Given the description of an element on the screen output the (x, y) to click on. 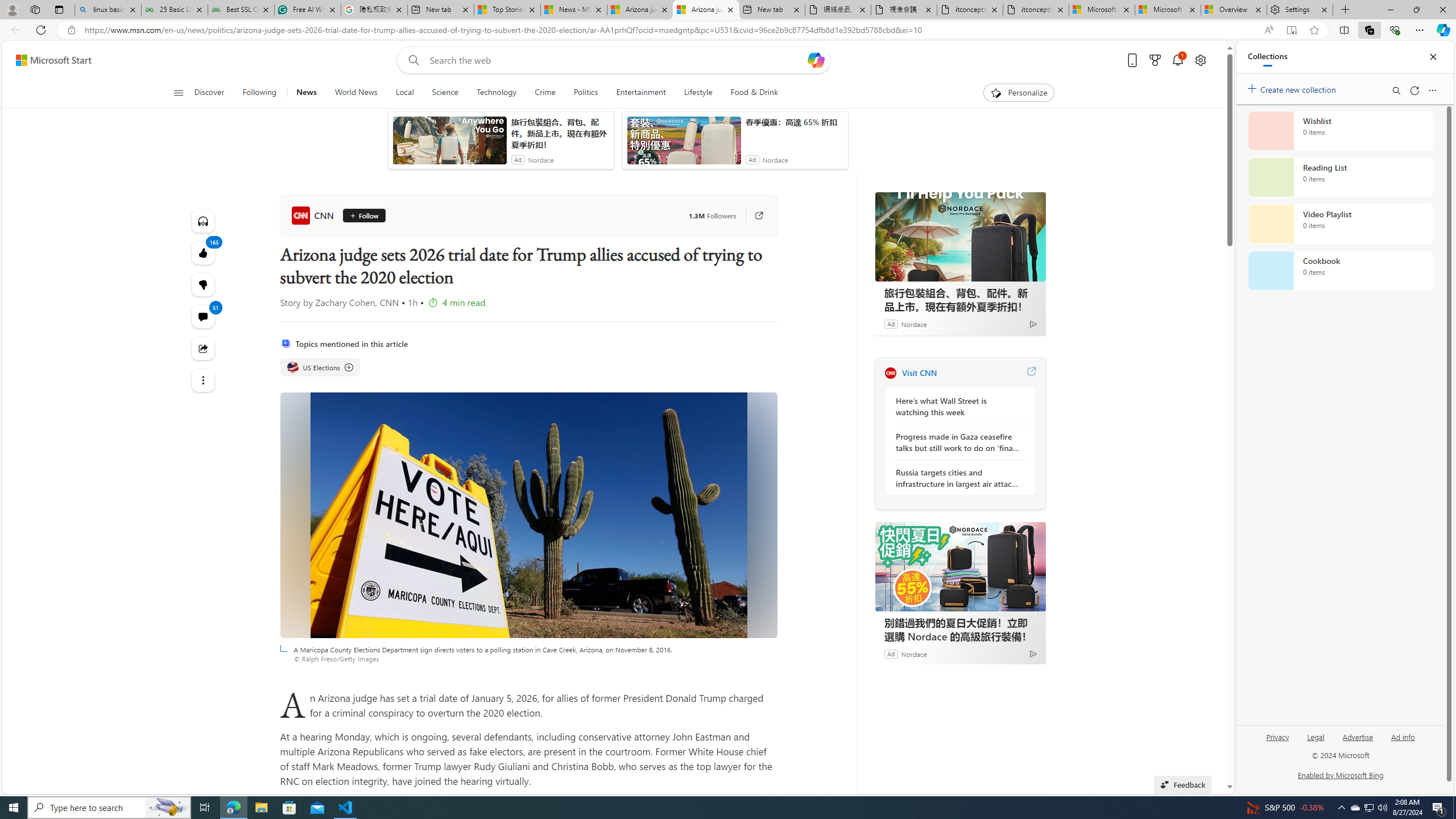
US Elections (319, 367)
Entertainment (641, 92)
Politics (585, 92)
Open navigation menu (177, 92)
Local (403, 92)
Video Playlist collection, 0 items (1339, 223)
US Elections US Elections US Elections (319, 367)
